Given the description of an element on the screen output the (x, y) to click on. 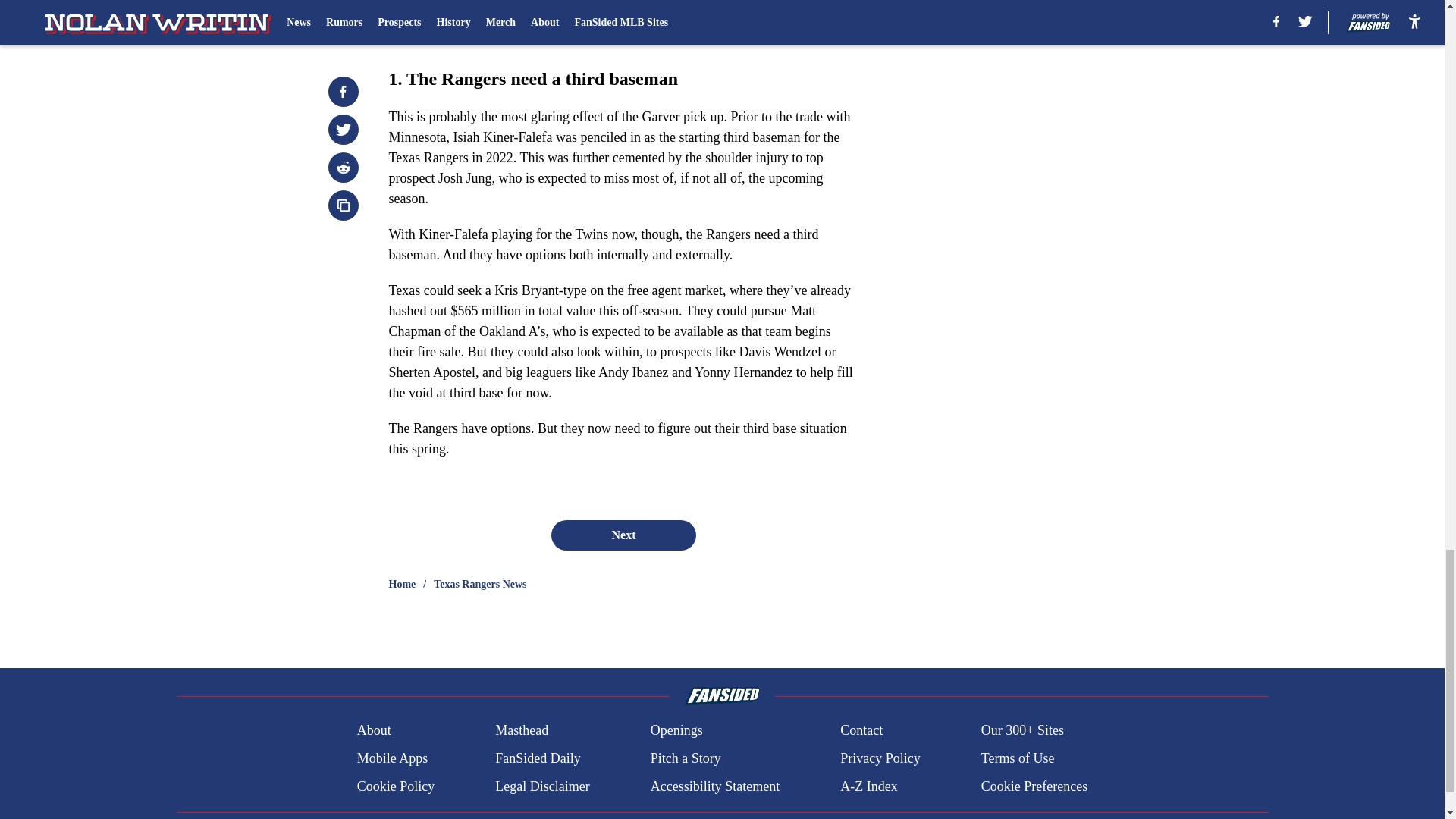
Next (622, 535)
FanSided Daily (537, 758)
Openings (676, 730)
Pitch a Story (685, 758)
Contact (861, 730)
Mobile Apps (392, 758)
About (373, 730)
Texas Rangers News (479, 584)
Terms of Use (1017, 758)
Cookie Policy (395, 786)
Privacy Policy (880, 758)
Legal Disclaimer (542, 786)
Masthead (521, 730)
Home (401, 584)
